Given the description of an element on the screen output the (x, y) to click on. 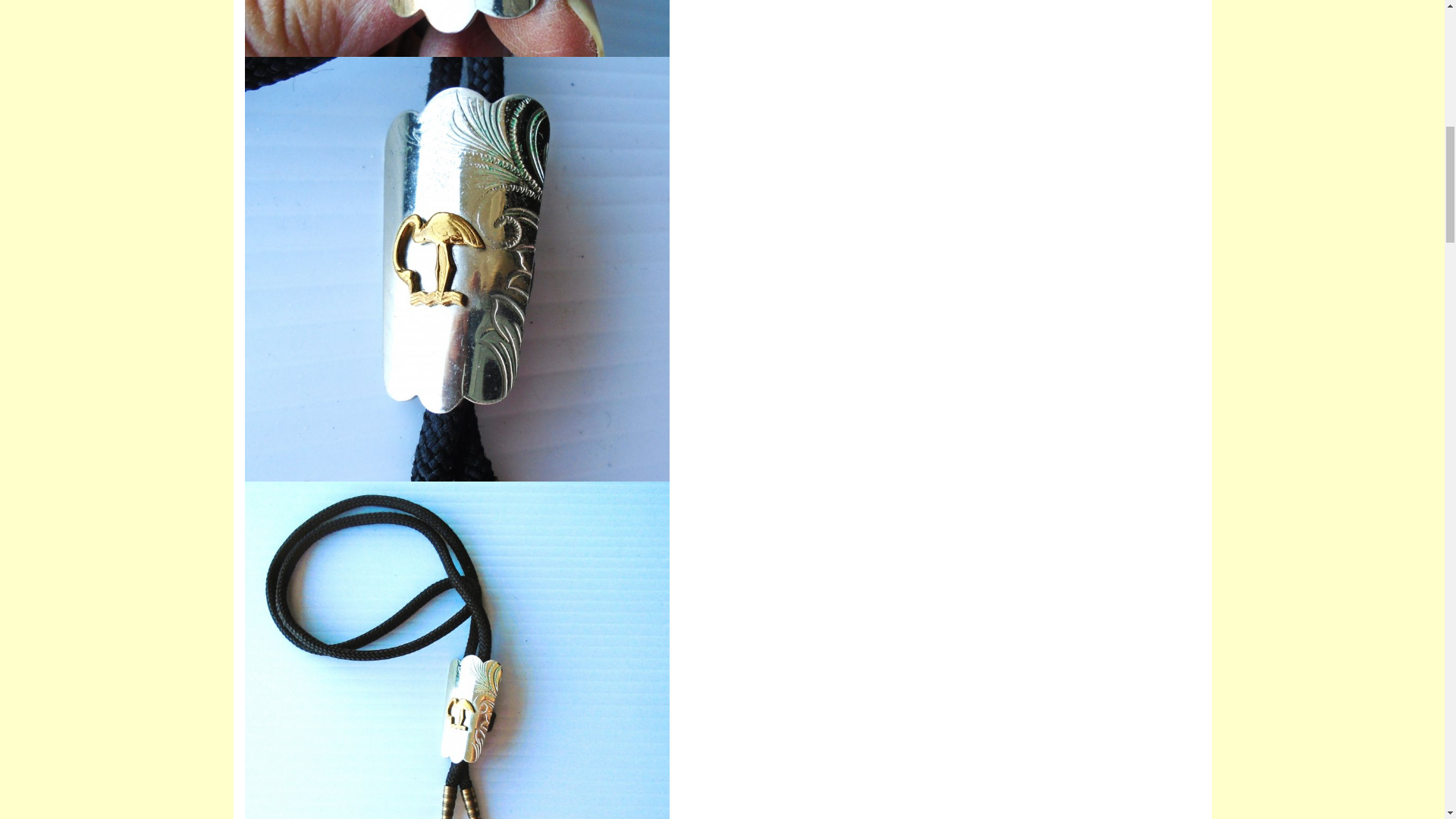
Flamingo Bolo Tie (456, 28)
